Given the description of an element on the screen output the (x, y) to click on. 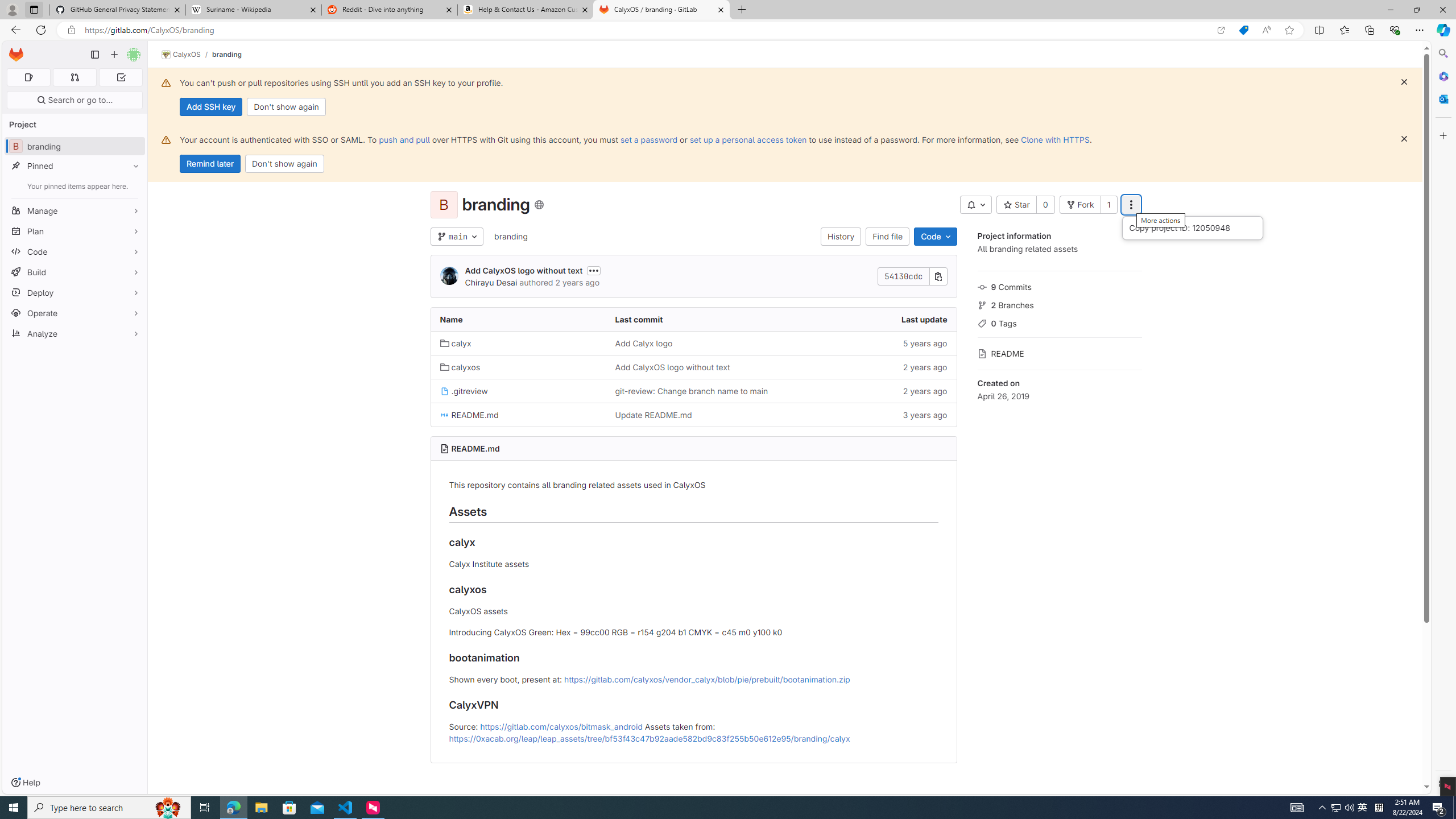
Pinned (74, 165)
Deploy (74, 292)
Last commit (693, 319)
Bbranding (74, 145)
Name (517, 319)
Deploy (74, 292)
Primary navigation sidebar (94, 54)
Don't show again (284, 163)
push and pull (403, 139)
Update README.md (693, 414)
Add Calyx logo (643, 342)
9 Commits (1058, 286)
